Given the description of an element on the screen output the (x, y) to click on. 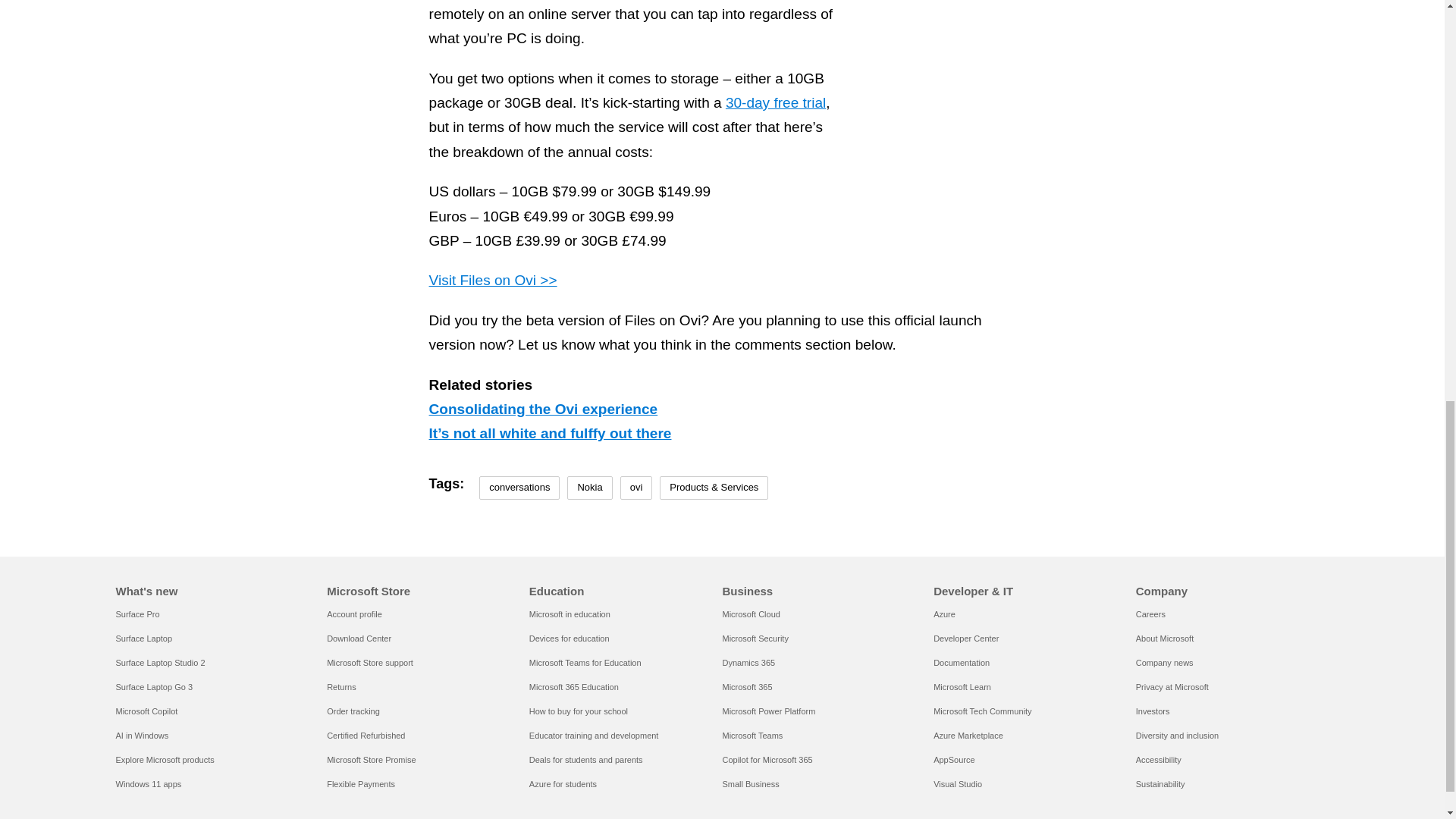
Nokia Tag (589, 487)
conversations Tag (519, 487)
ovi Tag (636, 487)
Files on Ovi officially goes live (1098, 50)
